Given the description of an element on the screen output the (x, y) to click on. 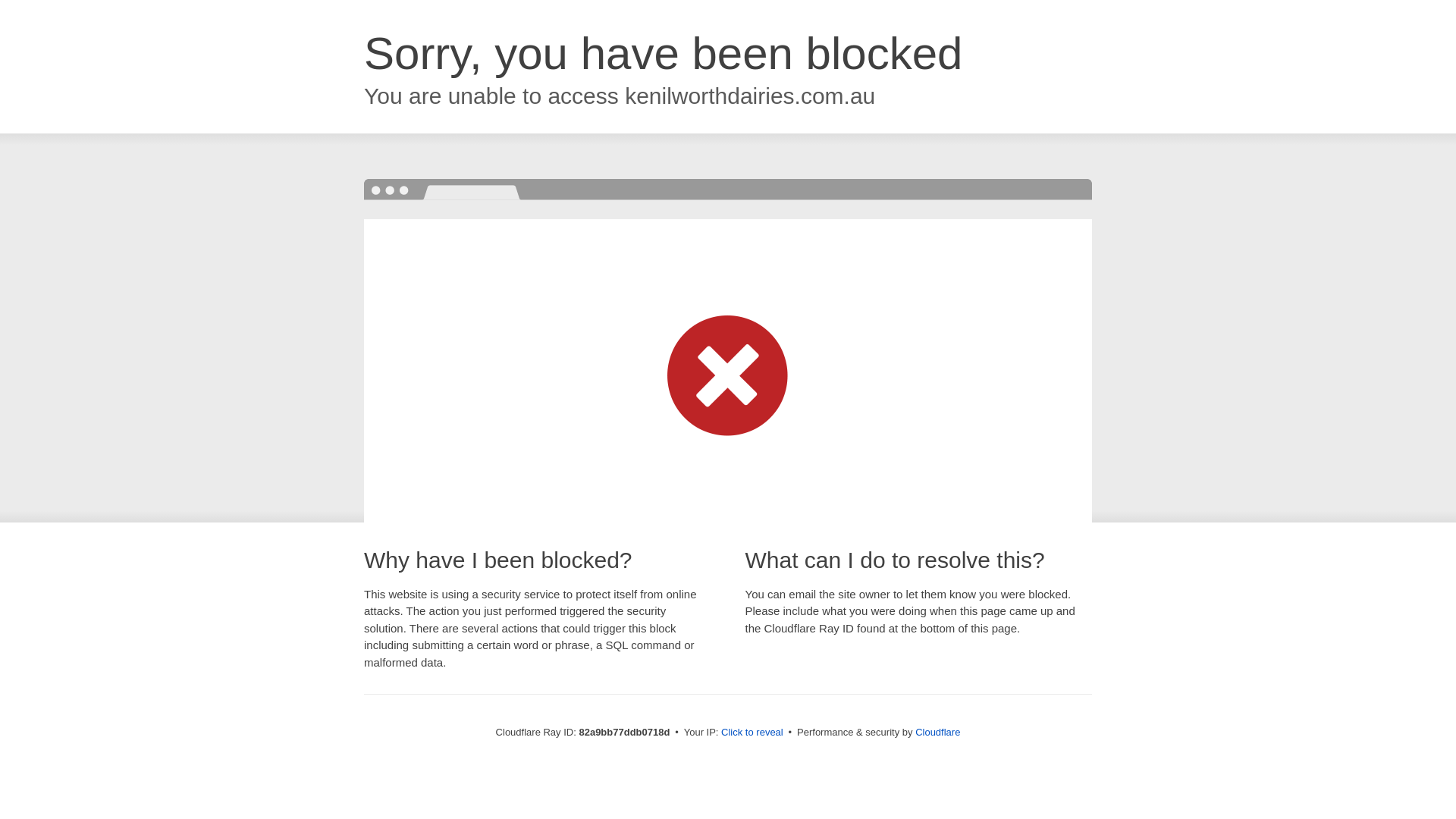
Cloudflare Element type: text (937, 731)
Click to reveal Element type: text (752, 732)
